Given the description of an element on the screen output the (x, y) to click on. 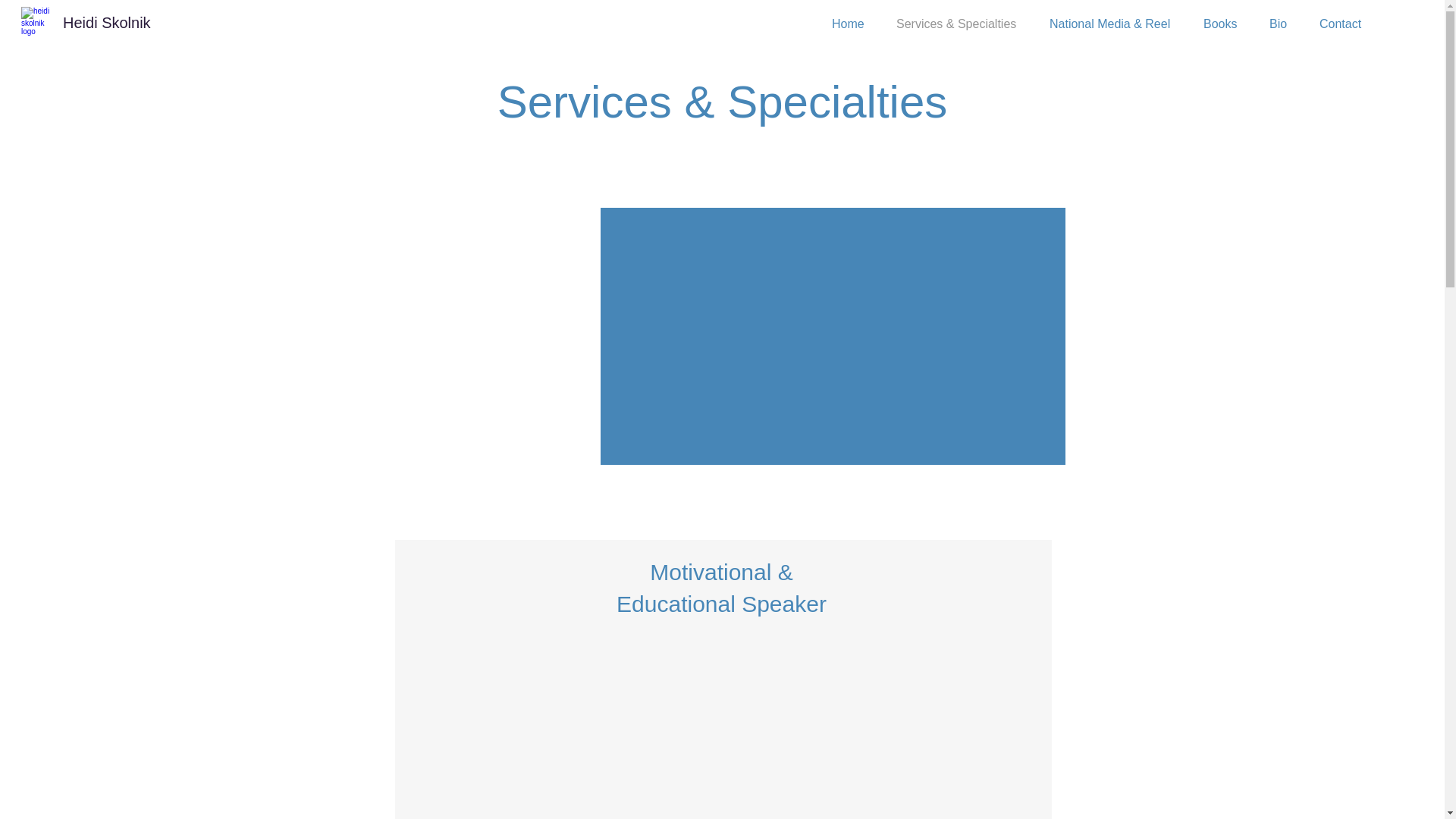
Heidi Skolnik (106, 22)
Home (853, 23)
Books (1224, 23)
Bio (1282, 23)
Contact (1343, 23)
